Given the description of an element on the screen output the (x, y) to click on. 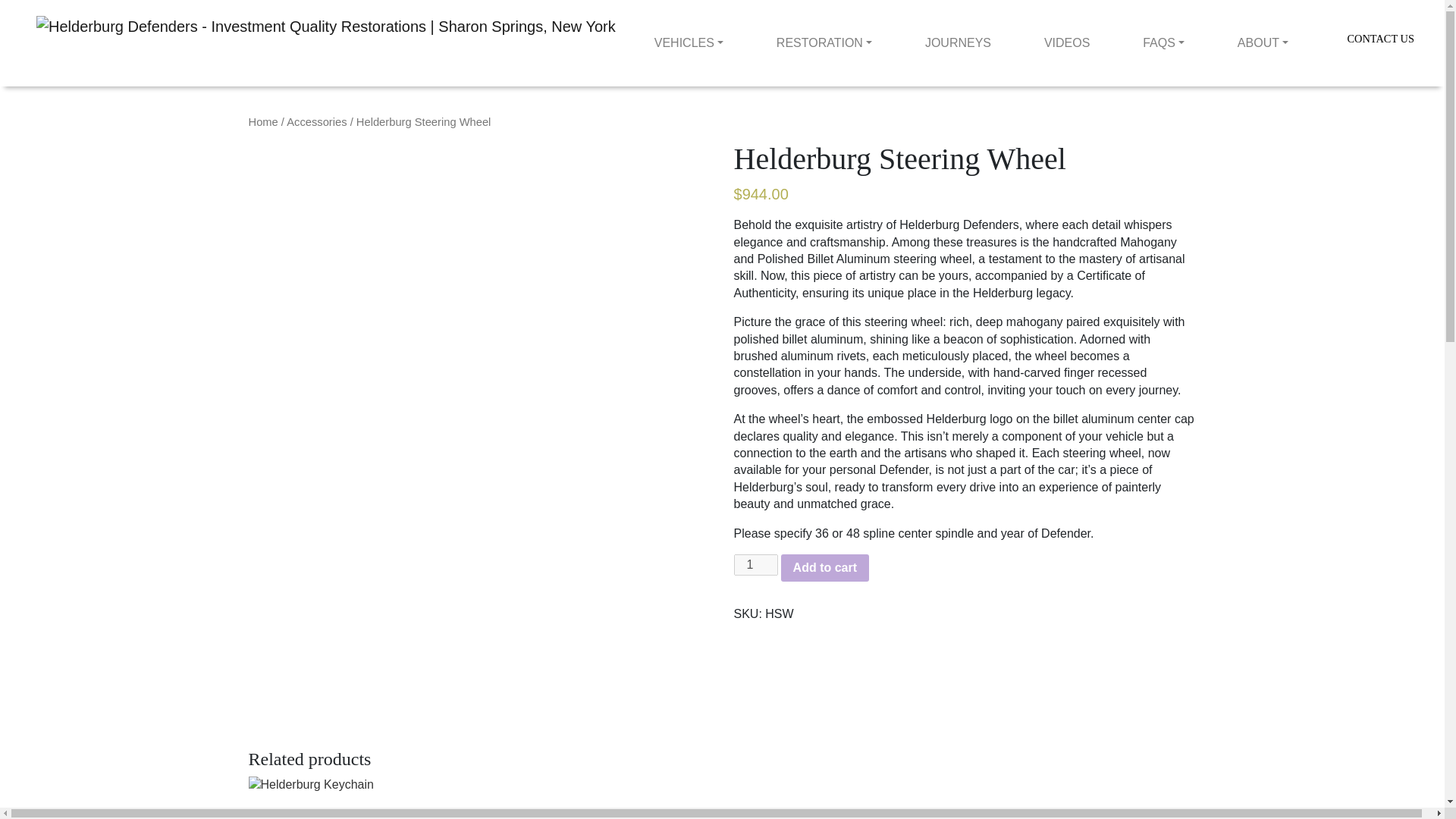
JOURNEYS (957, 42)
Accessories (316, 121)
Restoration (823, 42)
FAQS (1163, 42)
Vehicles (688, 42)
See Helderburg's in Showrooms Now! (722, 15)
ABOUT (1262, 42)
Add to cart (824, 567)
RESTORATION (823, 42)
VEHICLES (688, 42)
